Given the description of an element on the screen output the (x, y) to click on. 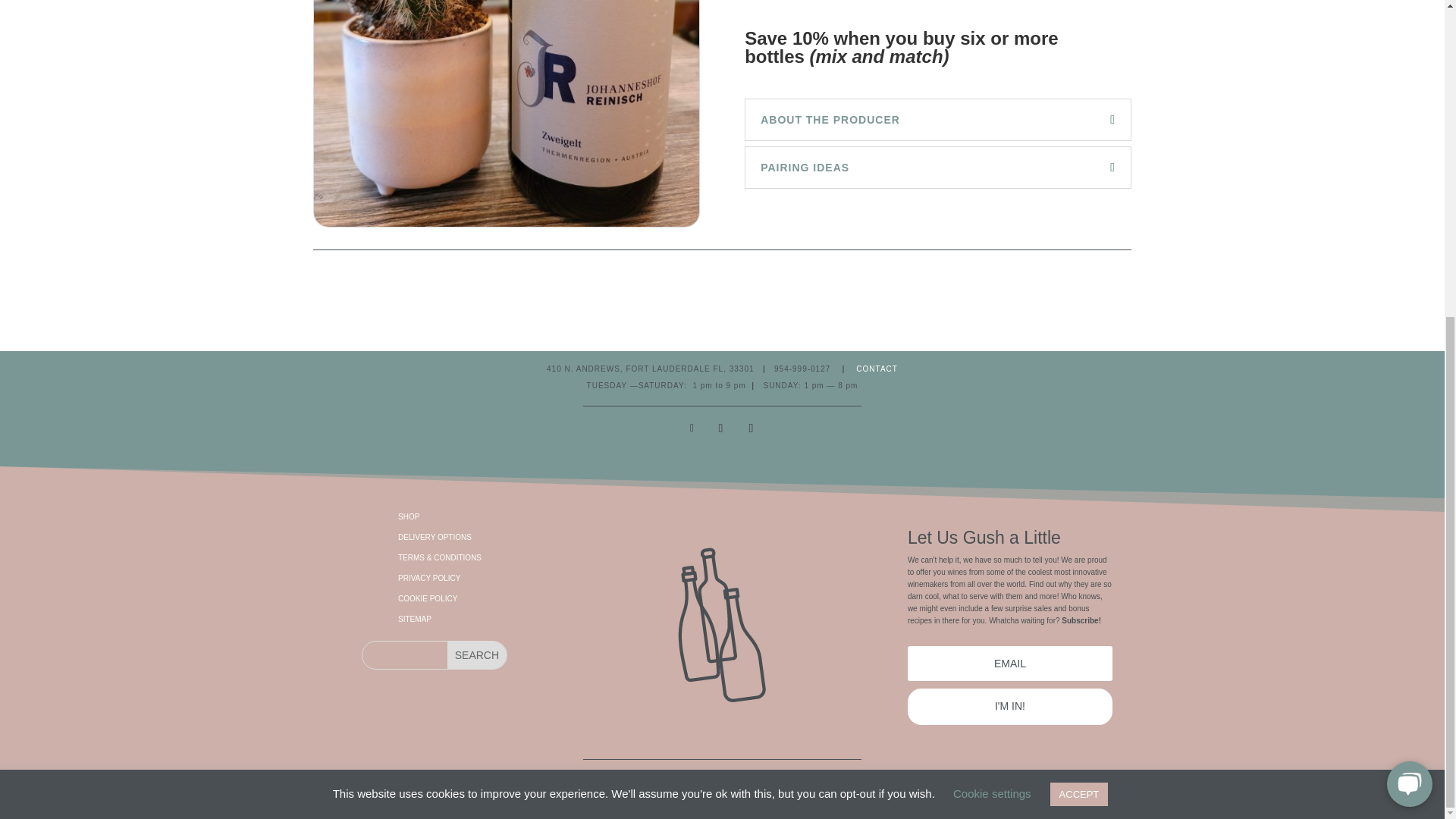
Search (476, 655)
Follow on Instagram (719, 427)
Follow on Facebook (691, 427)
Search (476, 655)
Follow on MySpace (750, 427)
